Given the description of an element on the screen output the (x, y) to click on. 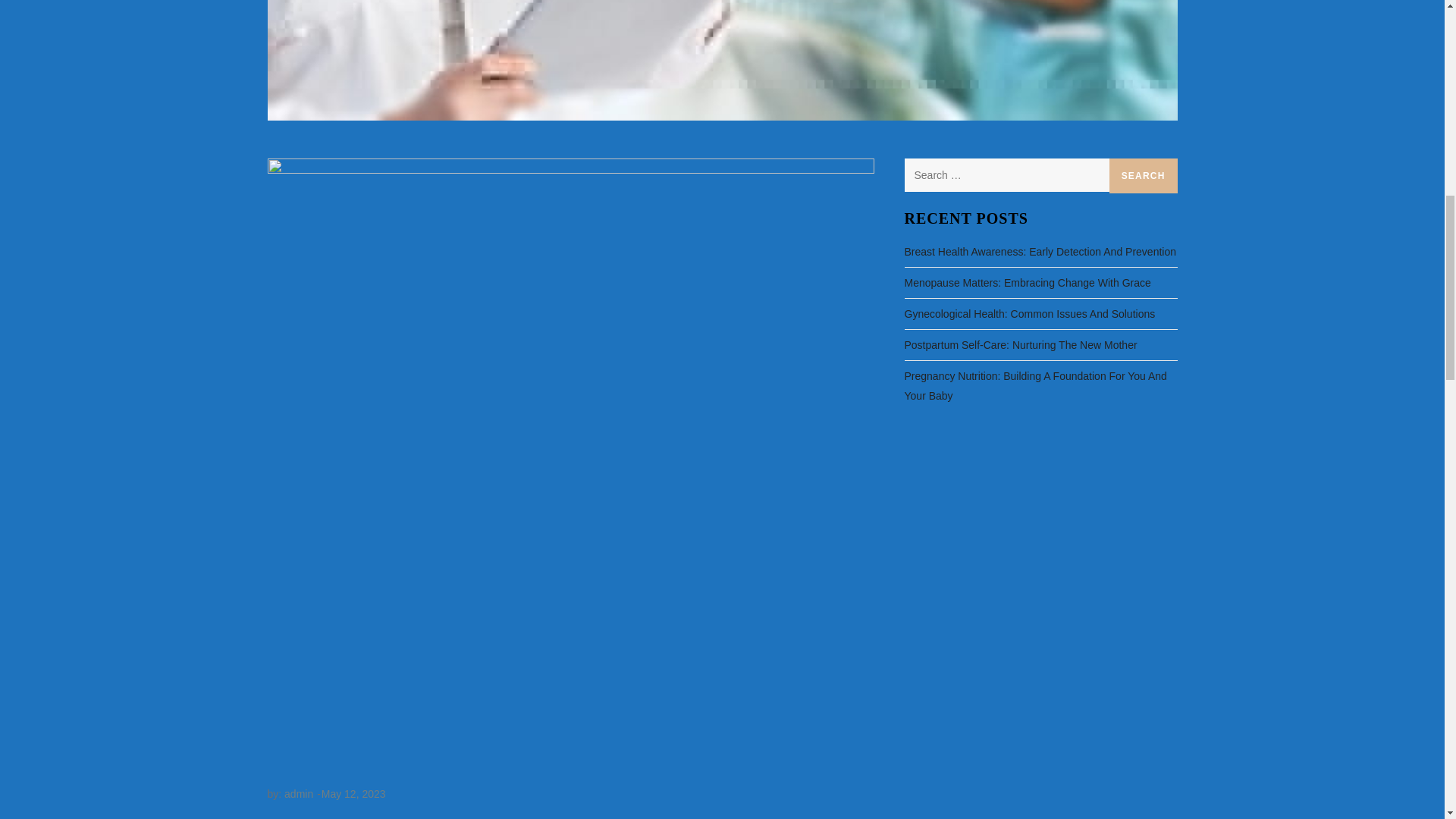
Menopause Matters: Embracing Change With Grace (1027, 282)
Search (1143, 175)
admin (298, 793)
Gynecological Health: Common Issues And Solutions (1029, 313)
Breast Health Awareness: Early Detection And Prevention (1040, 251)
Search (1143, 175)
Search (1143, 175)
May 12, 2023 (353, 793)
Postpartum Self-Care: Nurturing The New Mother (1020, 344)
